Given the description of an element on the screen output the (x, y) to click on. 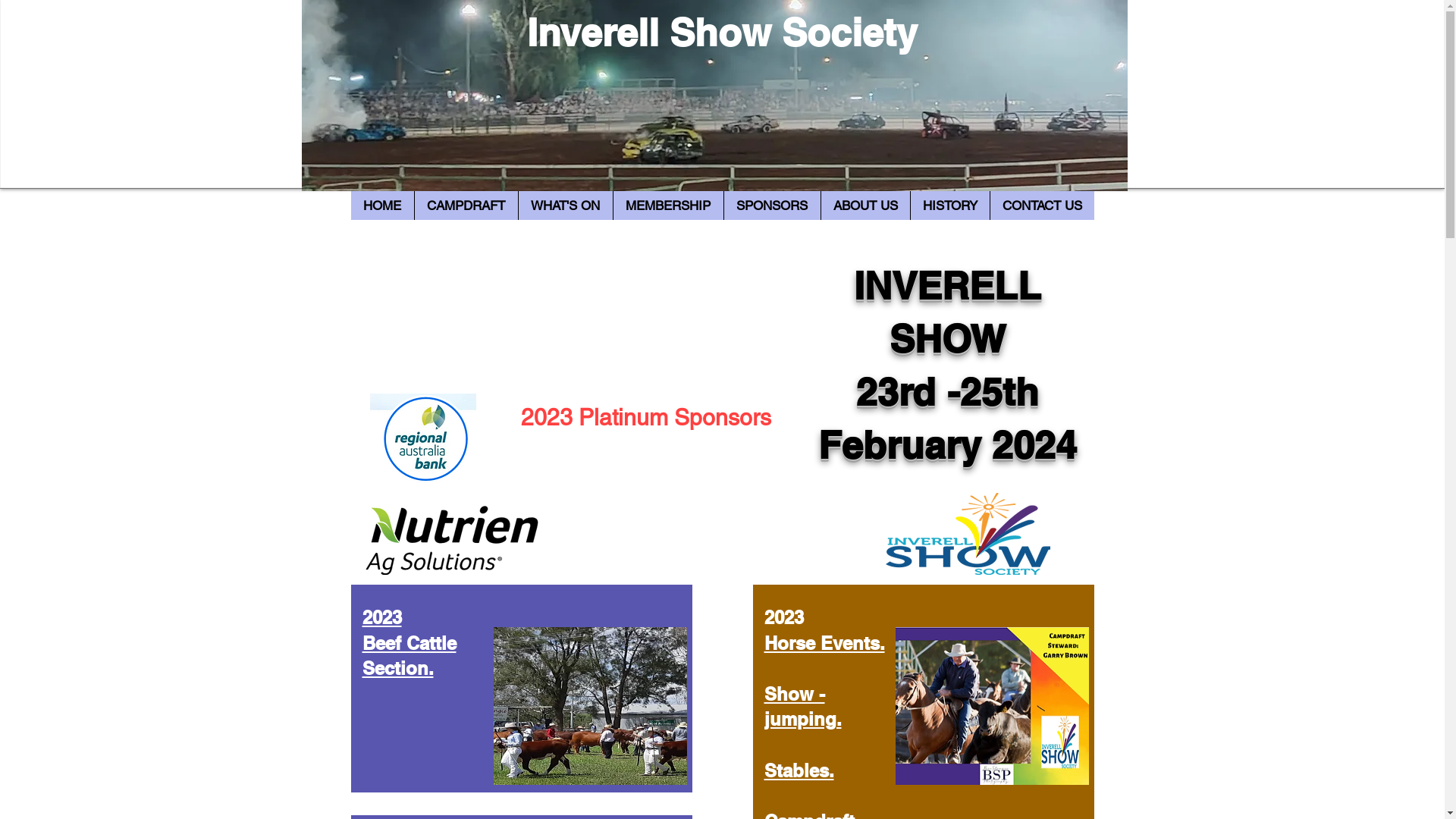
INVERELL SHOW logo.png Element type: hover (967, 533)
Show -
jumping. Element type: text (802, 706)
WHAT'S ON Element type: text (564, 205)
Inverell Show Society Element type: text (722, 31)
MEMBERSHIP Element type: text (667, 205)
HISTORY Element type: text (949, 205)
SPONSORS Element type: text (771, 205)
Stables. Element type: text (799, 770)
HOME Element type: text (381, 205)
2023
Beef Cattle Section. Element type: text (409, 642)
CAMPDRAFT Element type: text (465, 205)
Horse Events. Element type: text (824, 642)
FBOOK RAB LOGO.PNG Element type: hover (423, 439)
CONTACT US Element type: text (1040, 205)
ABOUT US Element type: text (865, 205)
